Given the description of an element on the screen output the (x, y) to click on. 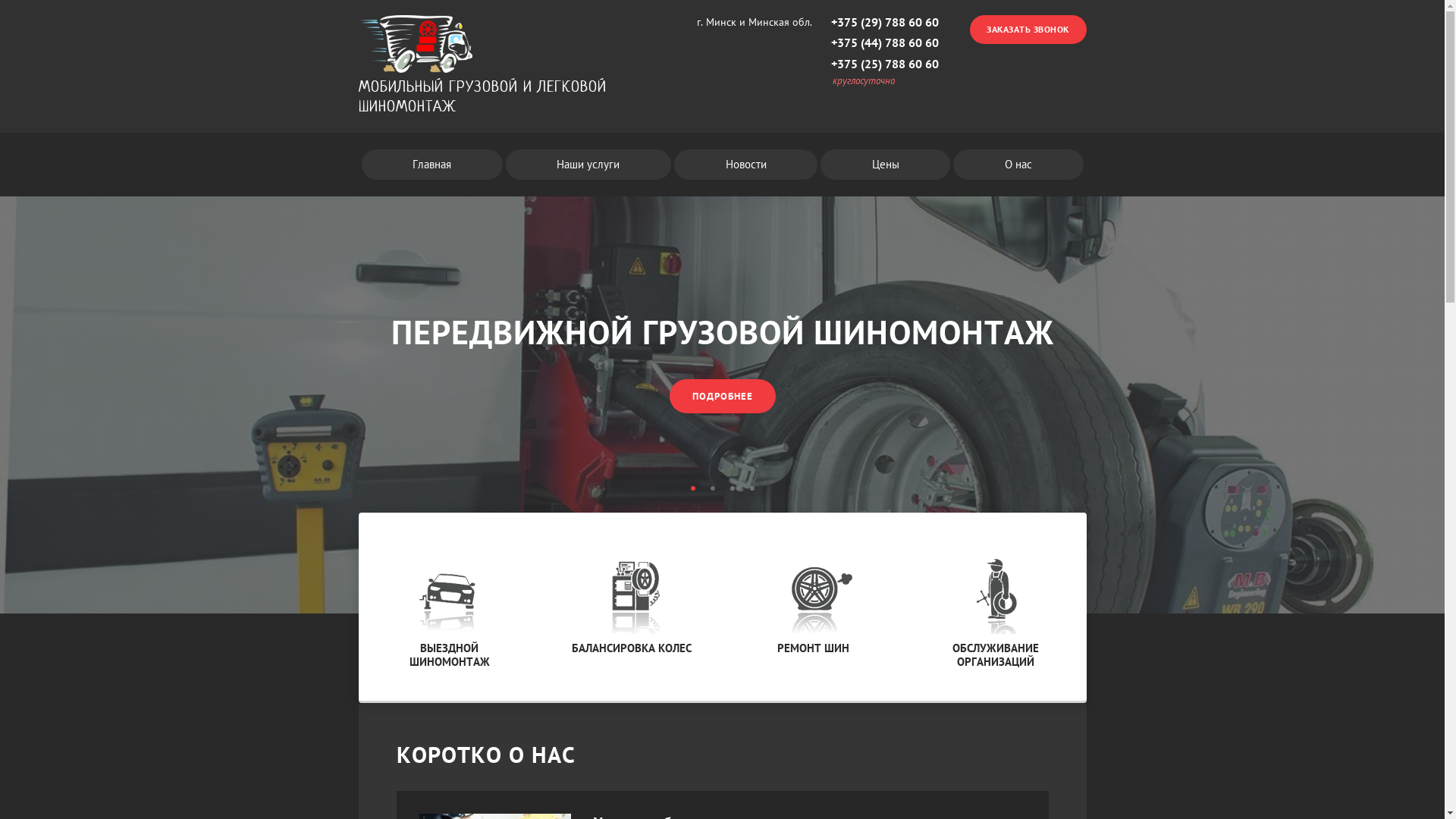
+375 (44) 788 60 60 Element type: text (884, 42)
+375 (25) 788 60 60 Element type: text (884, 63)
+375 (29) 788 60 60 Element type: text (884, 21)
